Given the description of an element on the screen output the (x, y) to click on. 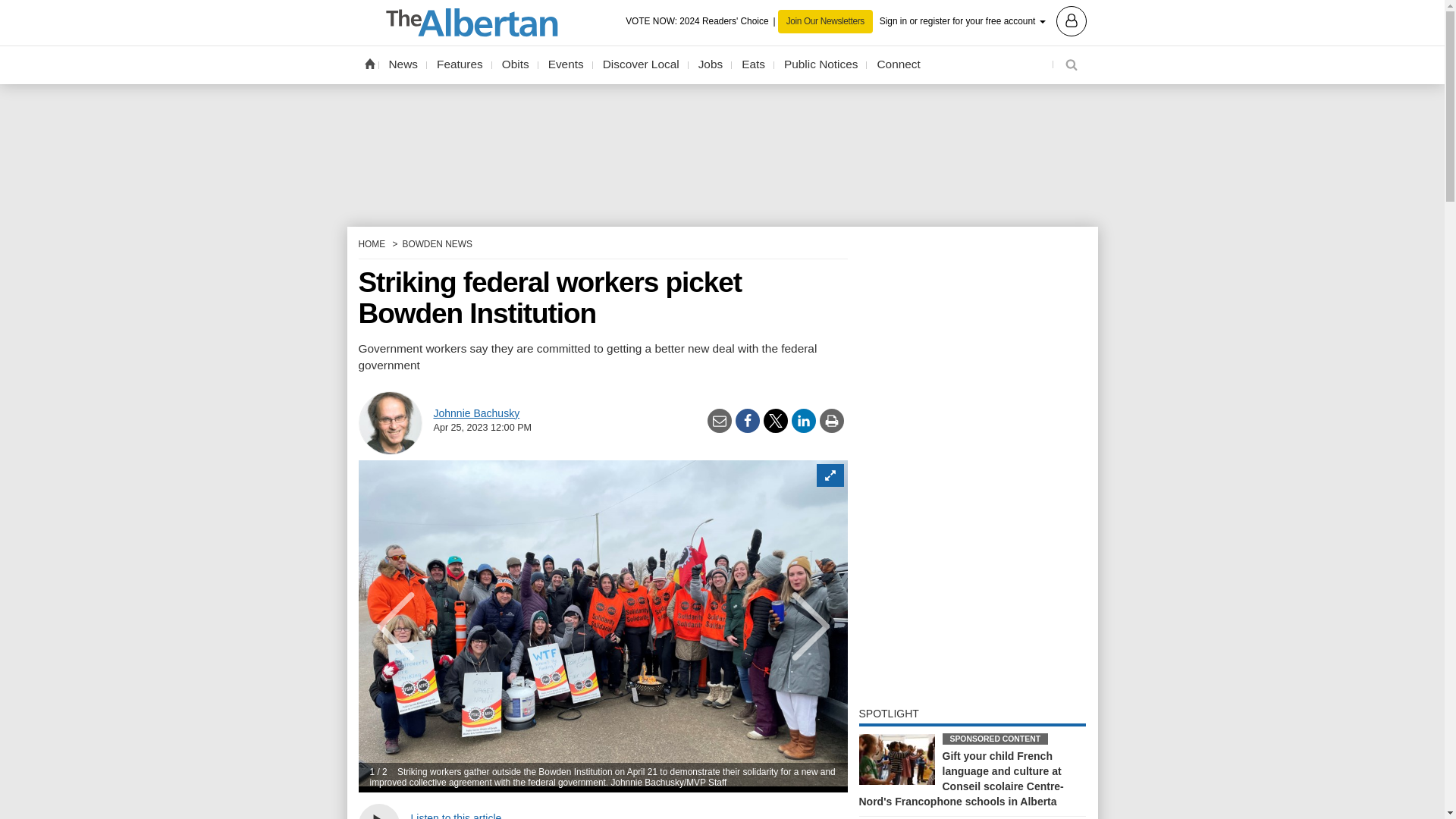
Join Our Newsletters (824, 21)
Home (368, 63)
Expand (829, 475)
VOTE NOW: 2024 Readers' Choice (701, 21)
Sign in or register for your free account (982, 20)
